Given the description of an element on the screen output the (x, y) to click on. 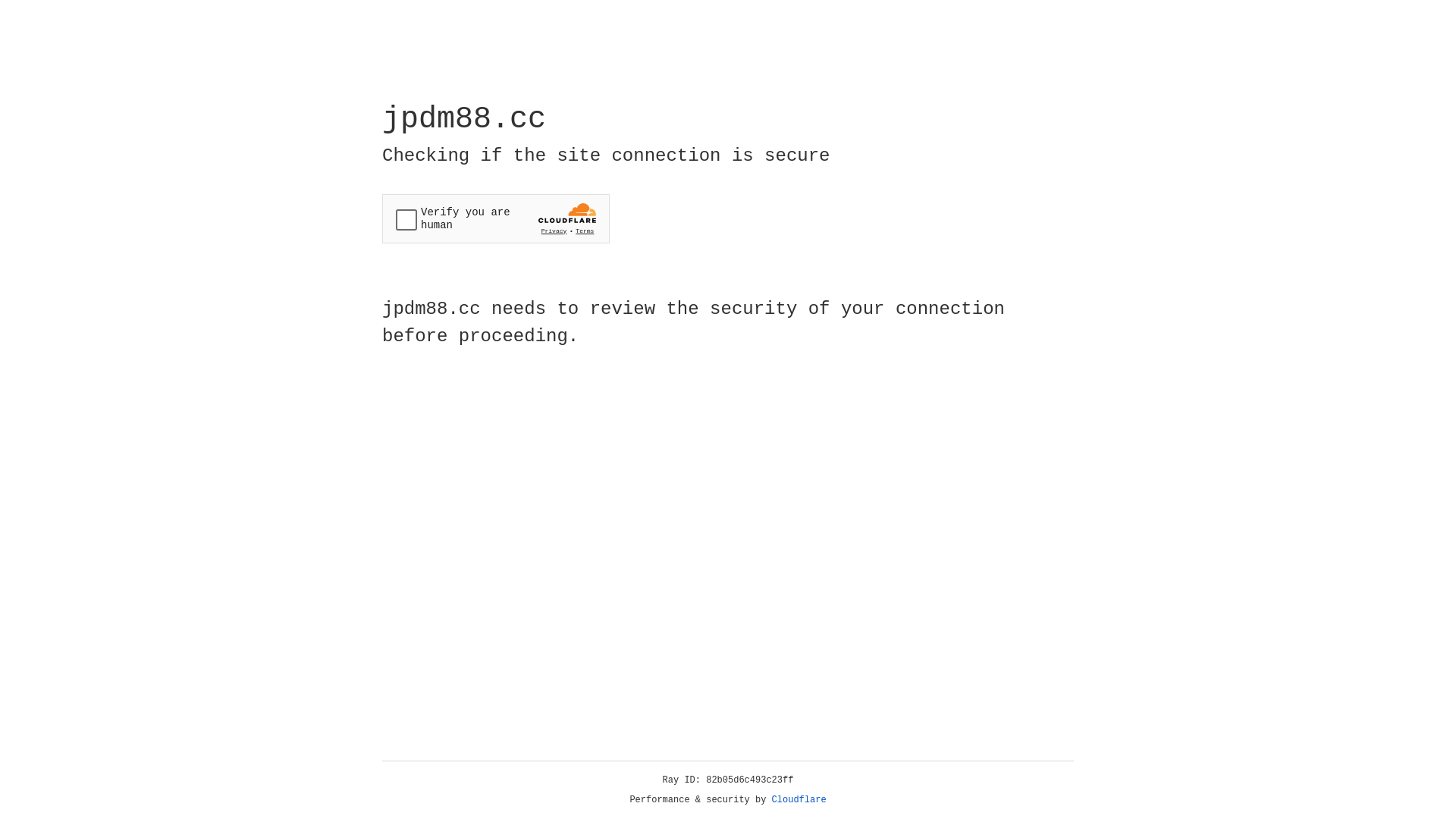
Widget containing a Cloudflare security challenge Element type: hover (495, 218)
Cloudflare Element type: text (798, 799)
